Given the description of an element on the screen output the (x, y) to click on. 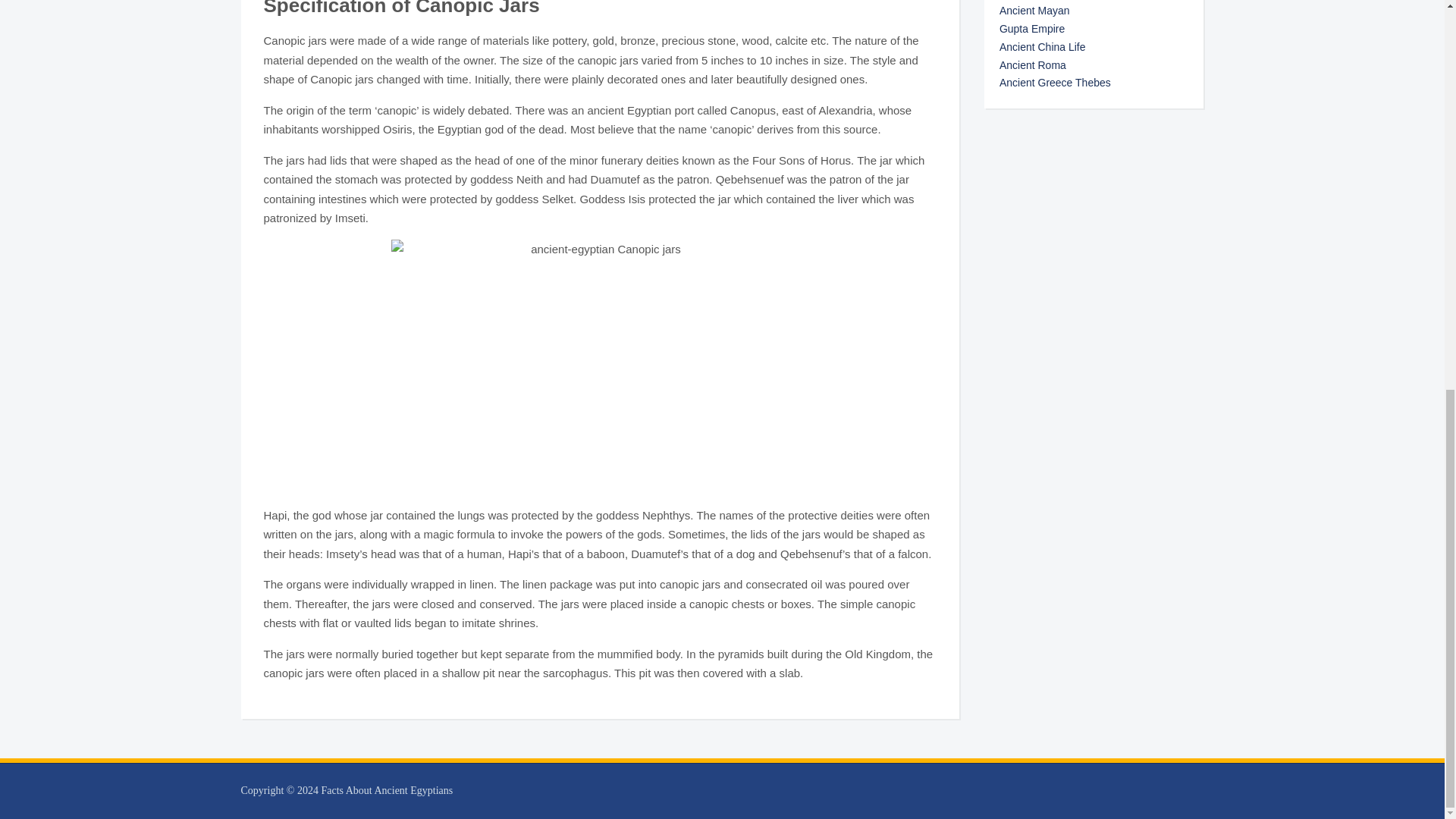
Ancient Roma (1031, 64)
Ancient China Life (1042, 46)
Gupta Empire (1031, 28)
Ancient Greece Thebes (1054, 82)
Ancient Mayan (1034, 10)
